Given the description of an element on the screen output the (x, y) to click on. 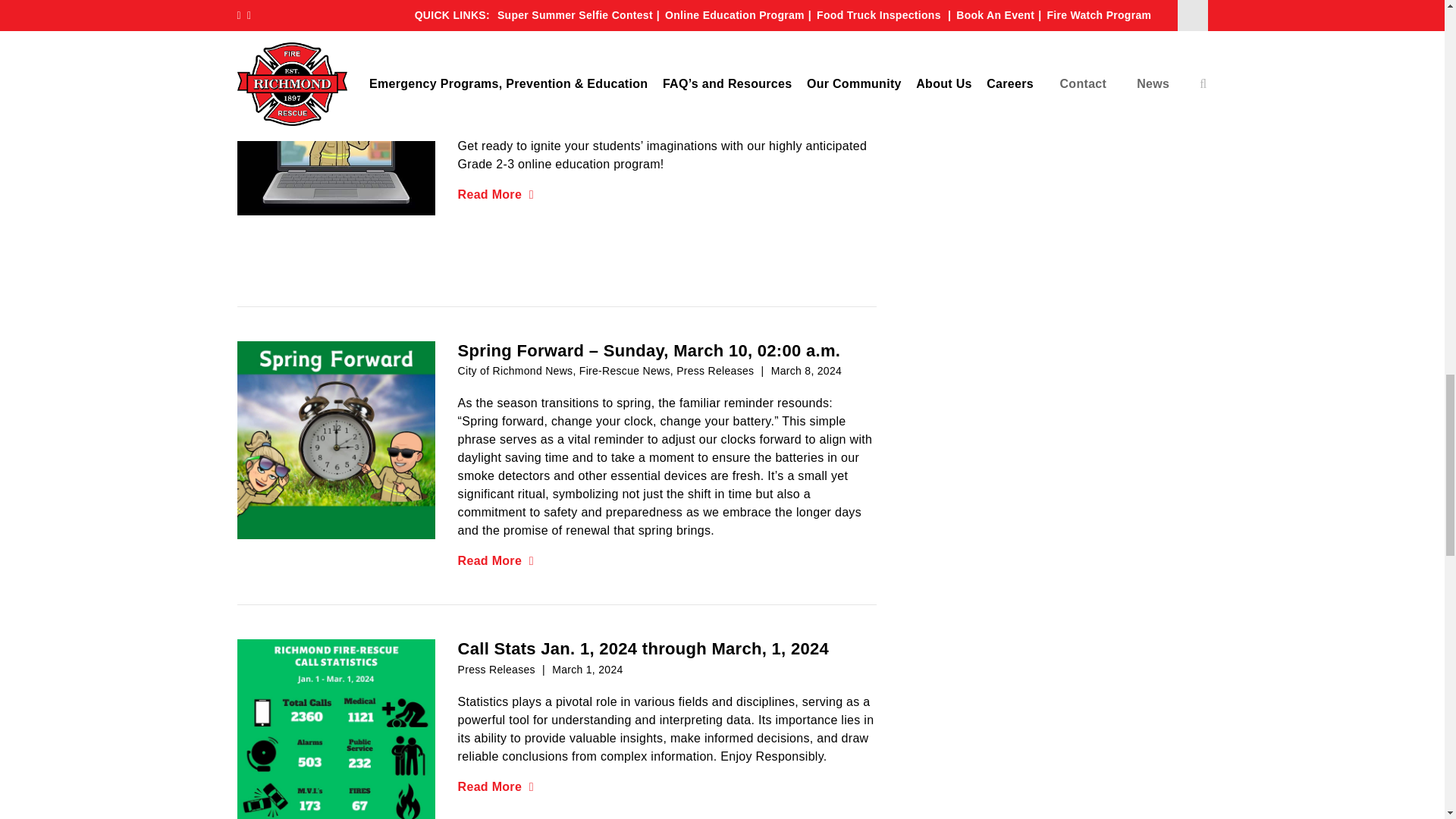
Call Stats Jan. 1, 2024 through March, 1, 2024 (334, 729)
Call Stats Jan. 1, 2024 through March, 1, 2024 (334, 737)
